Given the description of an element on the screen output the (x, y) to click on. 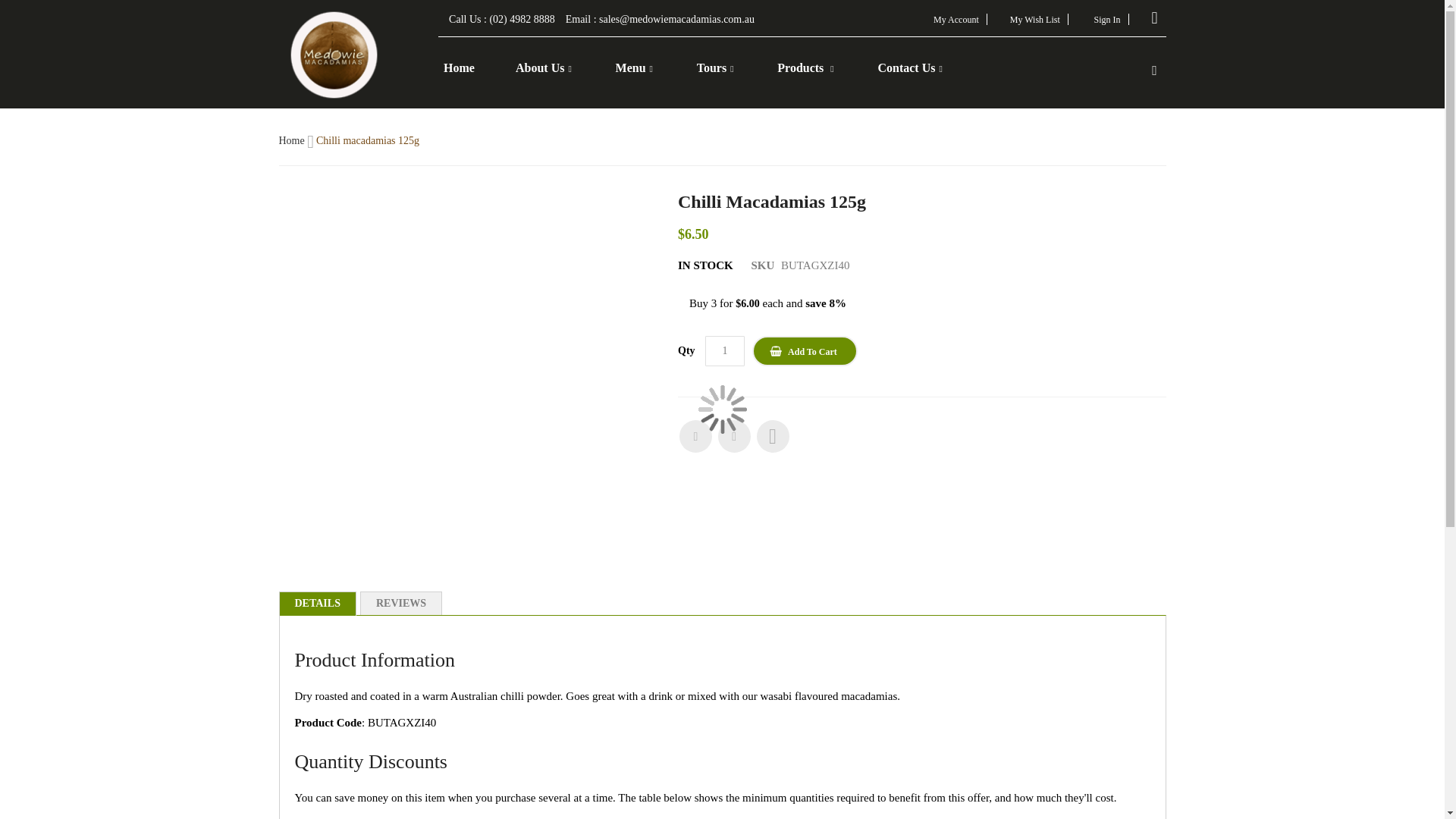
Add to Cart (804, 350)
Products (804, 67)
Contact Us (909, 67)
My Account (955, 19)
Availability (705, 265)
Qty (724, 350)
My Wish List (1034, 19)
Medowie Macadamias (334, 52)
About Us (543, 67)
1 (724, 350)
Sign In (1106, 19)
Go to Home Page (293, 140)
